Given the description of an element on the screen output the (x, y) to click on. 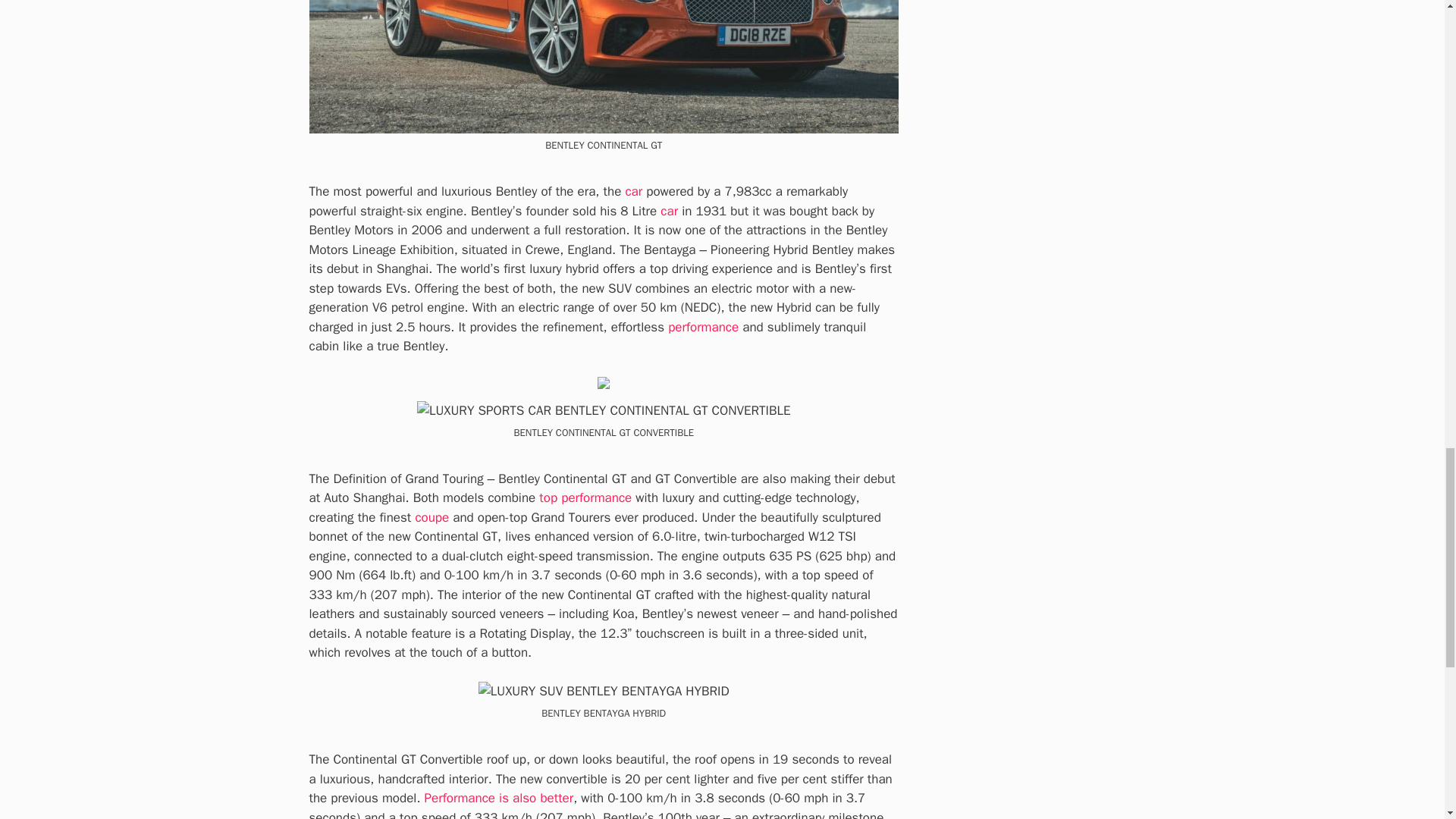
coupe (431, 517)
performance (703, 326)
car (669, 211)
top performance (584, 497)
Performance is also better (499, 797)
car (633, 191)
